Given the description of an element on the screen output the (x, y) to click on. 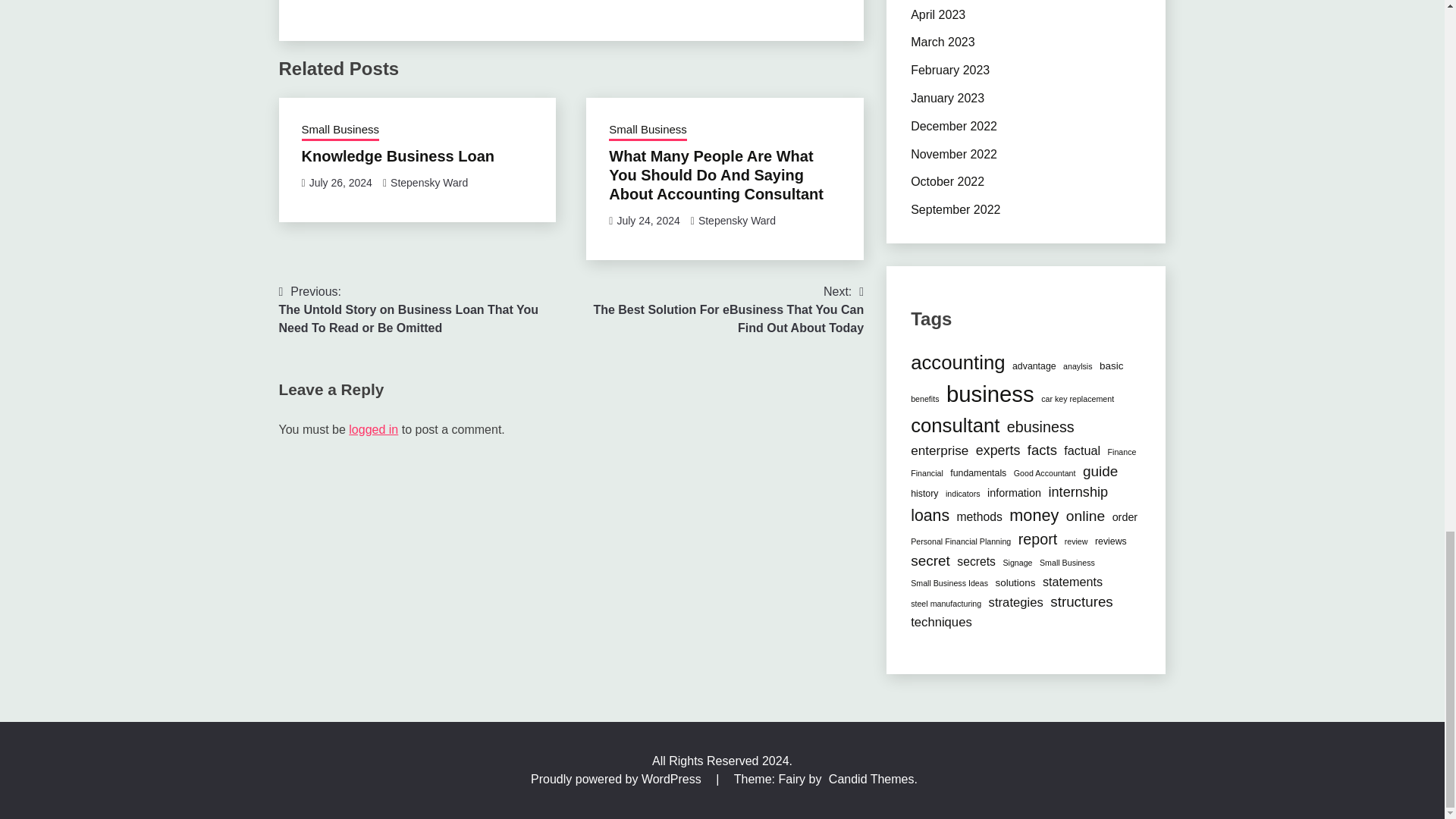
logged in (373, 429)
Knowledge Business Loan (398, 156)
July 26, 2024 (340, 182)
Stepensky Ward (428, 182)
July 24, 2024 (647, 220)
Small Business (340, 130)
Small Business (647, 130)
Stepensky Ward (737, 220)
